Given the description of an element on the screen output the (x, y) to click on. 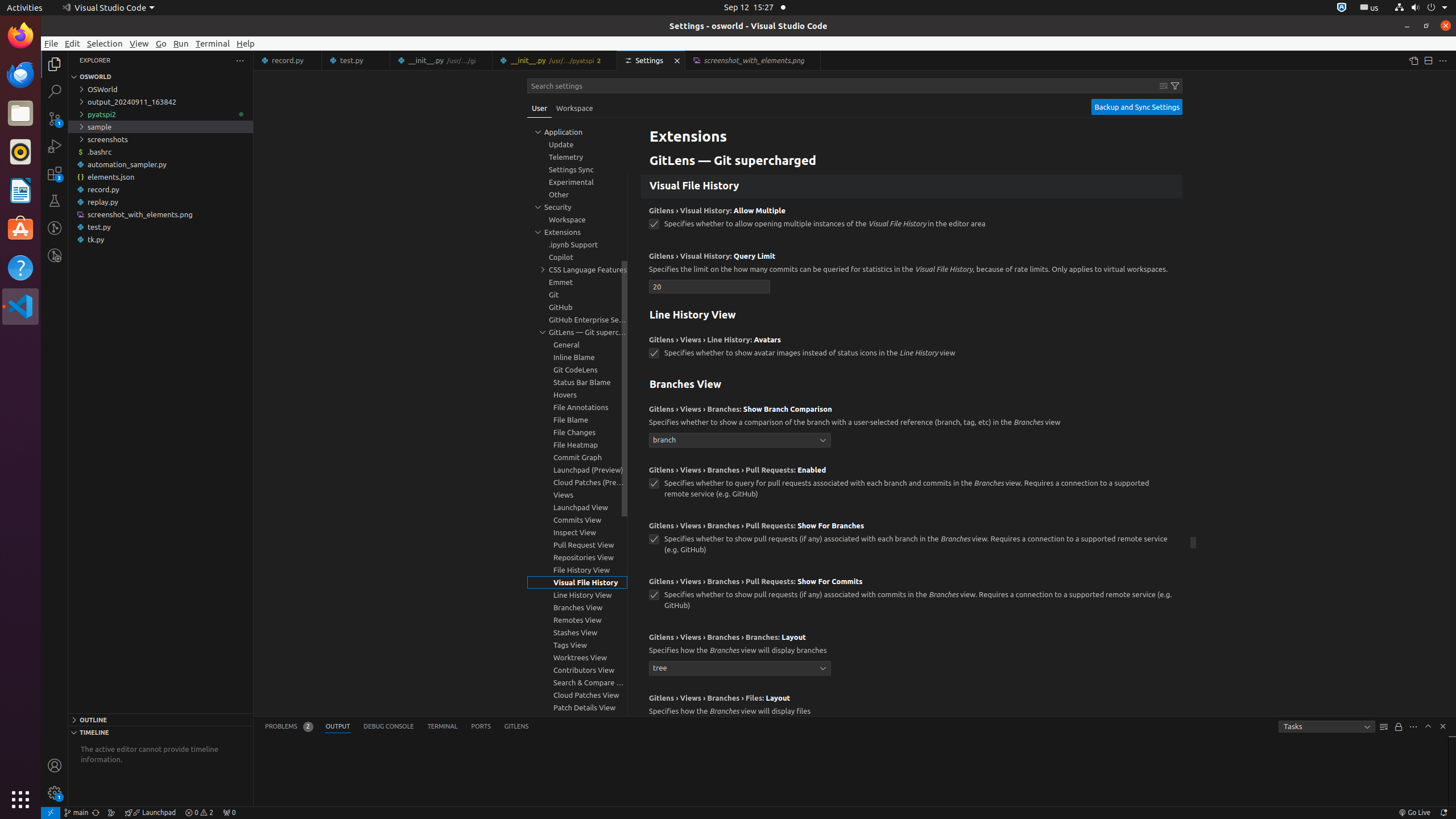
__init__.py Element type: page-tab (554, 60)
